Given the description of an element on the screen output the (x, y) to click on. 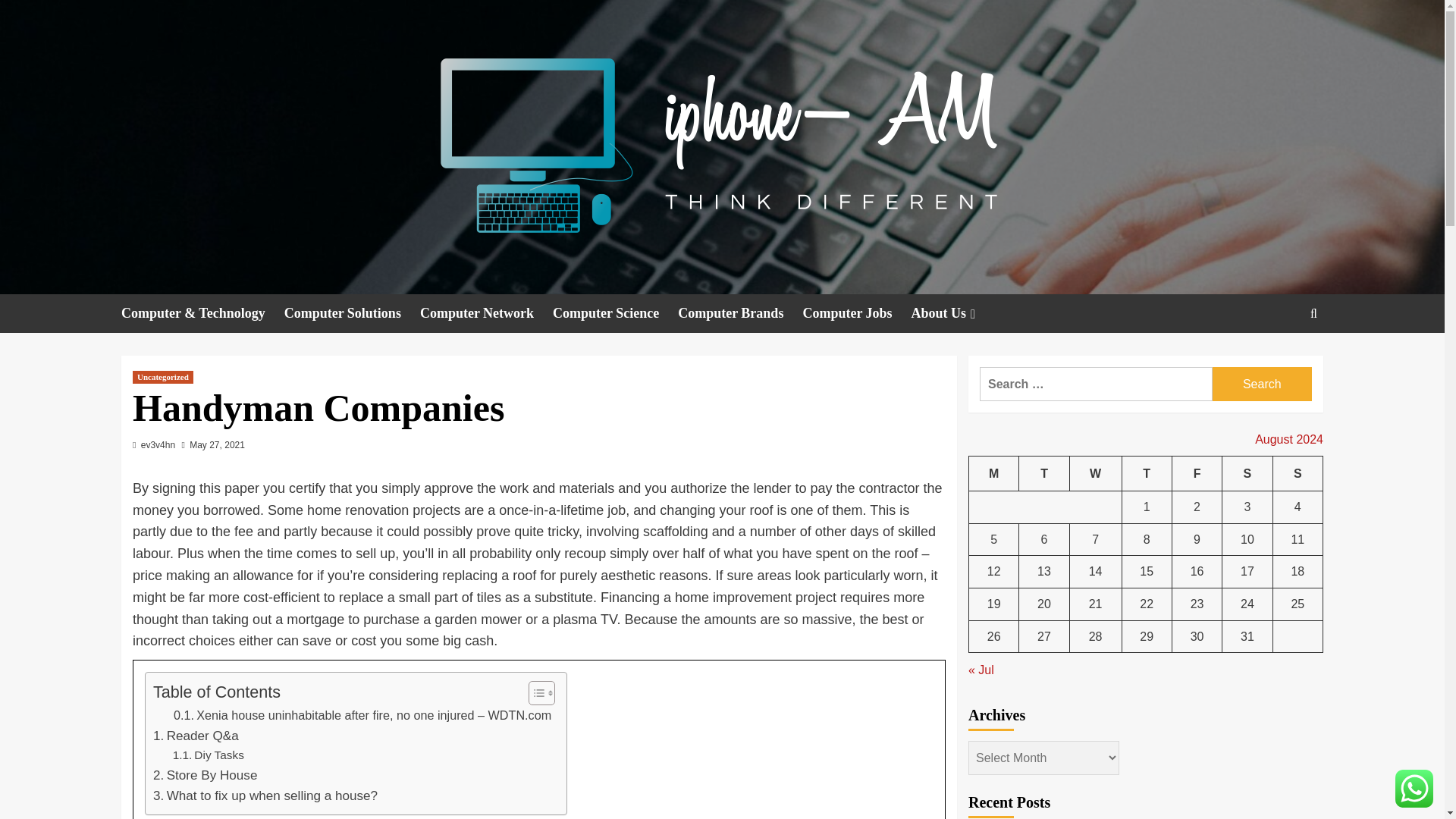
Friday (1196, 473)
Diy Tasks (208, 755)
Computer Science (615, 313)
May 27, 2021 (216, 444)
Computer Jobs (856, 313)
Search (1261, 383)
What to fix up when selling a house? (264, 795)
Saturday (1247, 473)
What to fix up when selling a house? (264, 795)
Computer Network (486, 313)
